Given the description of an element on the screen output the (x, y) to click on. 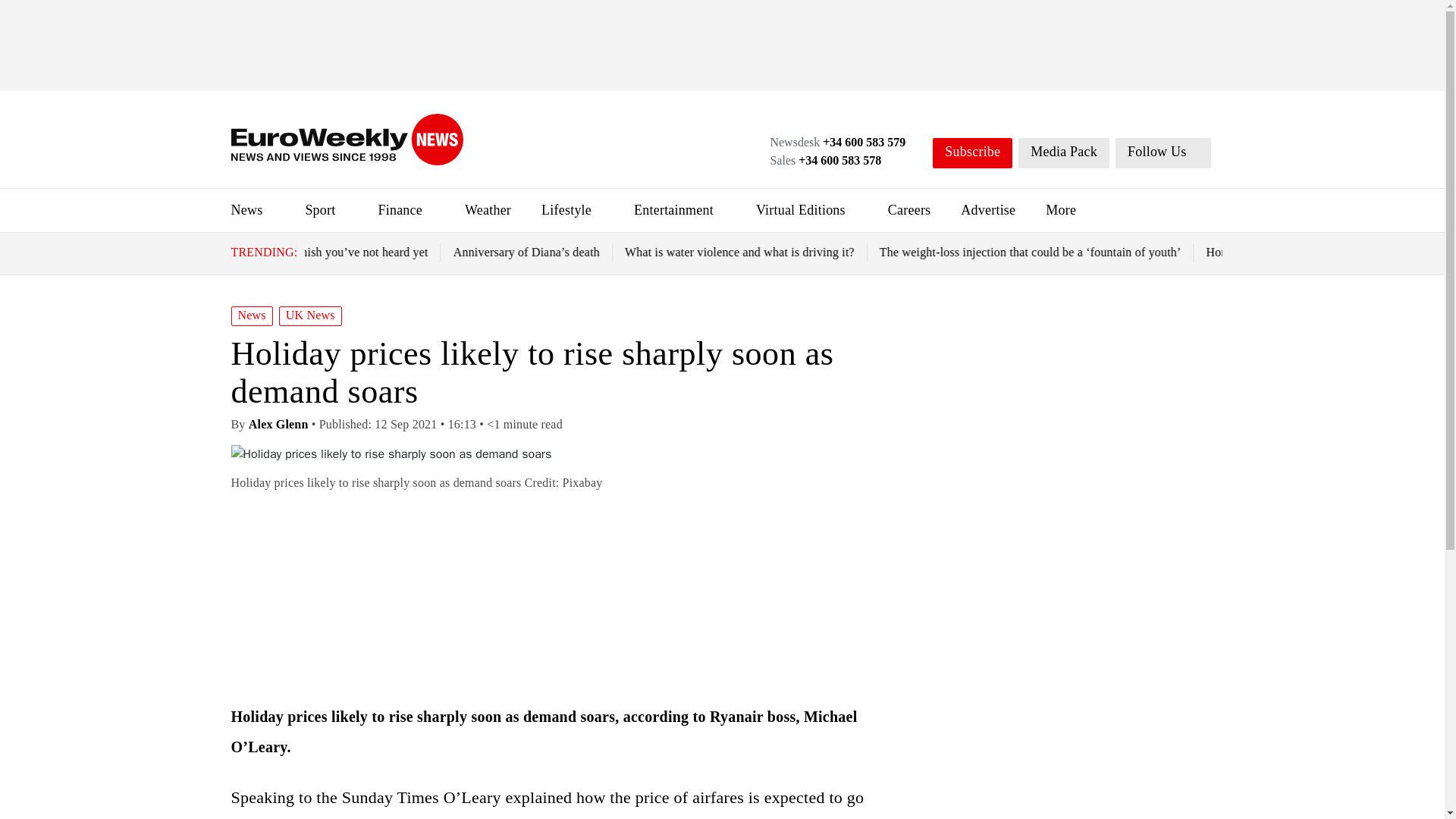
Subscribe (972, 153)
Follow Us (1163, 153)
Media Pack (1063, 153)
News (246, 209)
